Given the description of an element on the screen output the (x, y) to click on. 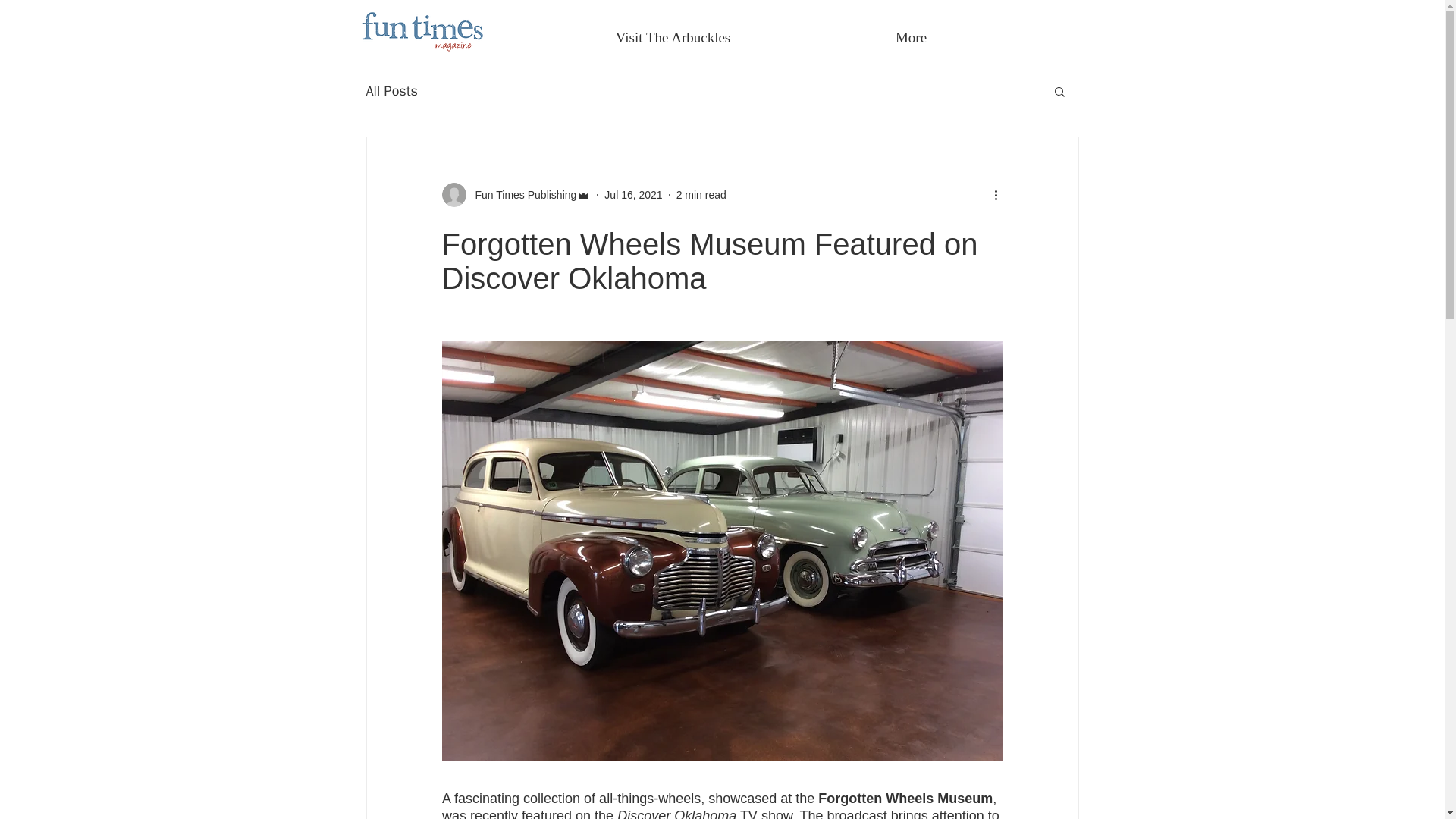
Fun Times Publishing (520, 194)
Jul 16, 2021 (633, 193)
Fun Times Publishing (516, 194)
Visit The Arbuckles (672, 37)
2 min read (701, 193)
All Posts (390, 90)
